Given the description of an element on the screen output the (x, y) to click on. 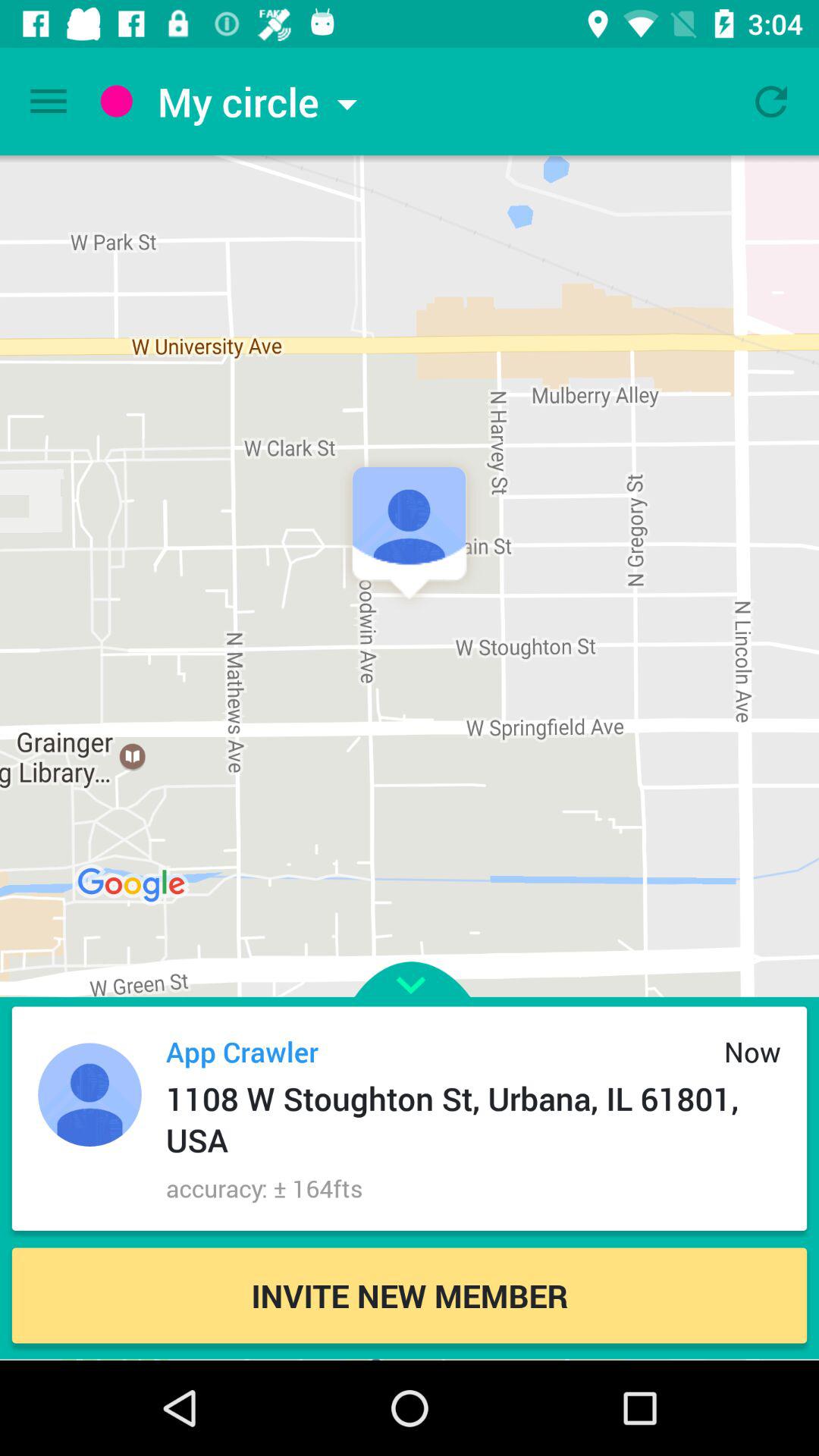
advertisement (409, 957)
